Given the description of an element on the screen output the (x, y) to click on. 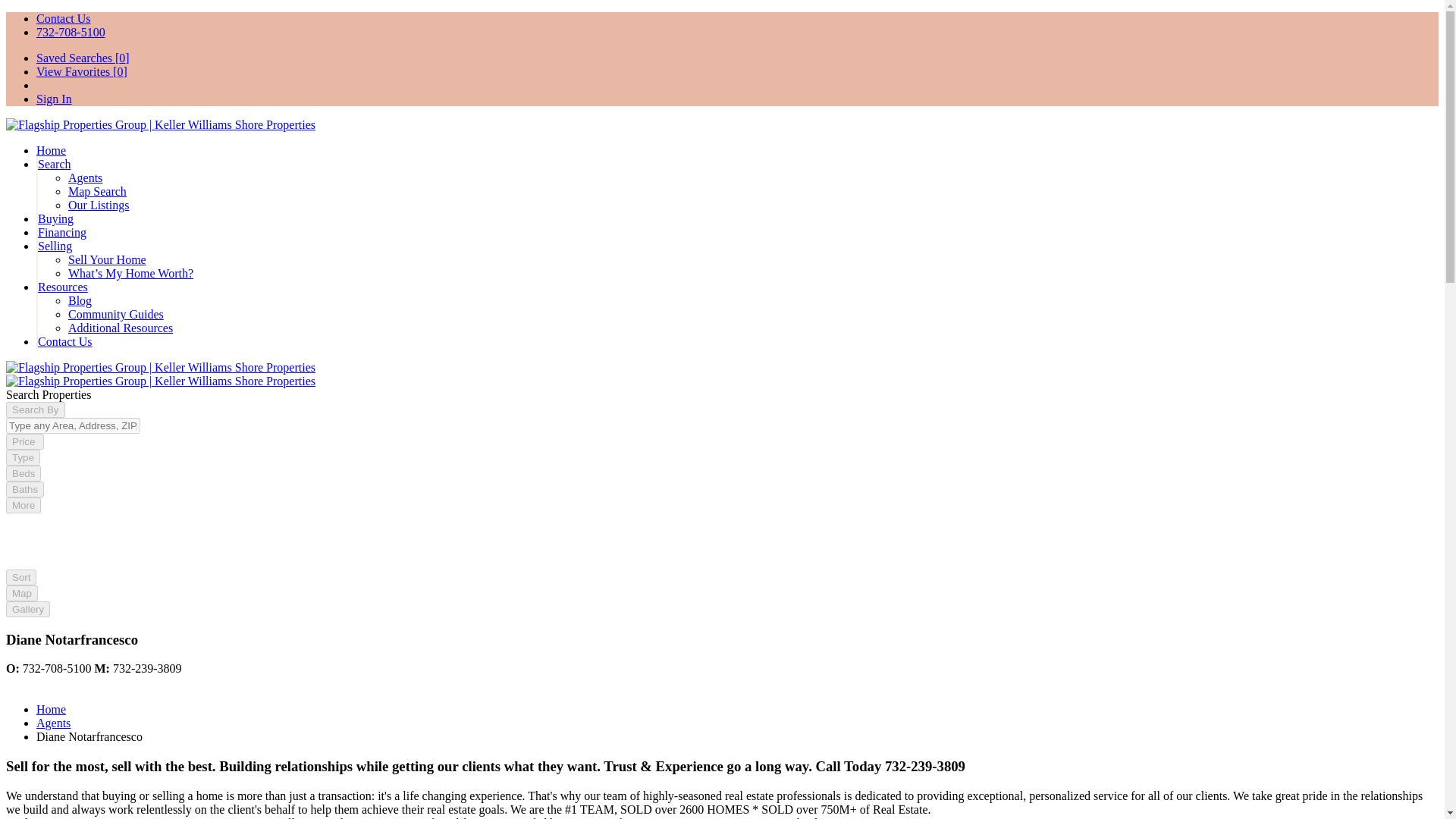
Selling (54, 245)
Our Listings (98, 205)
Contact Us (65, 341)
Sell Your Home (107, 259)
Map Search (97, 191)
Agents (52, 722)
Price  (24, 441)
Home (50, 708)
Map (21, 592)
Gallery View (27, 608)
Baths (24, 489)
Map (21, 593)
Type (22, 457)
Community Guides (115, 314)
More (22, 505)
